Given the description of an element on the screen output the (x, y) to click on. 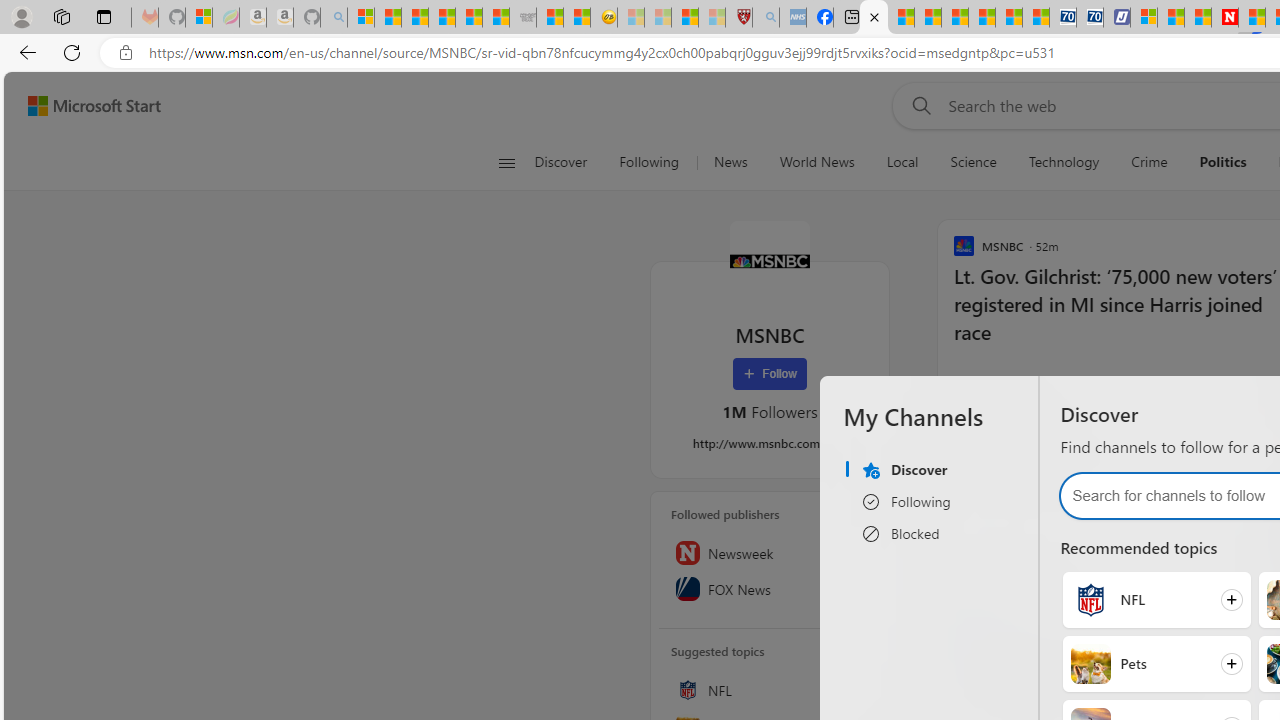
Pets (1090, 663)
NFL (770, 690)
Science (973, 162)
12 Popular Science Lies that Must be Corrected - Sleeping (711, 17)
Crime (1149, 162)
Follow NFL (1156, 599)
Start the conversation (1040, 383)
11 Like (968, 384)
